Given the description of an element on the screen output the (x, y) to click on. 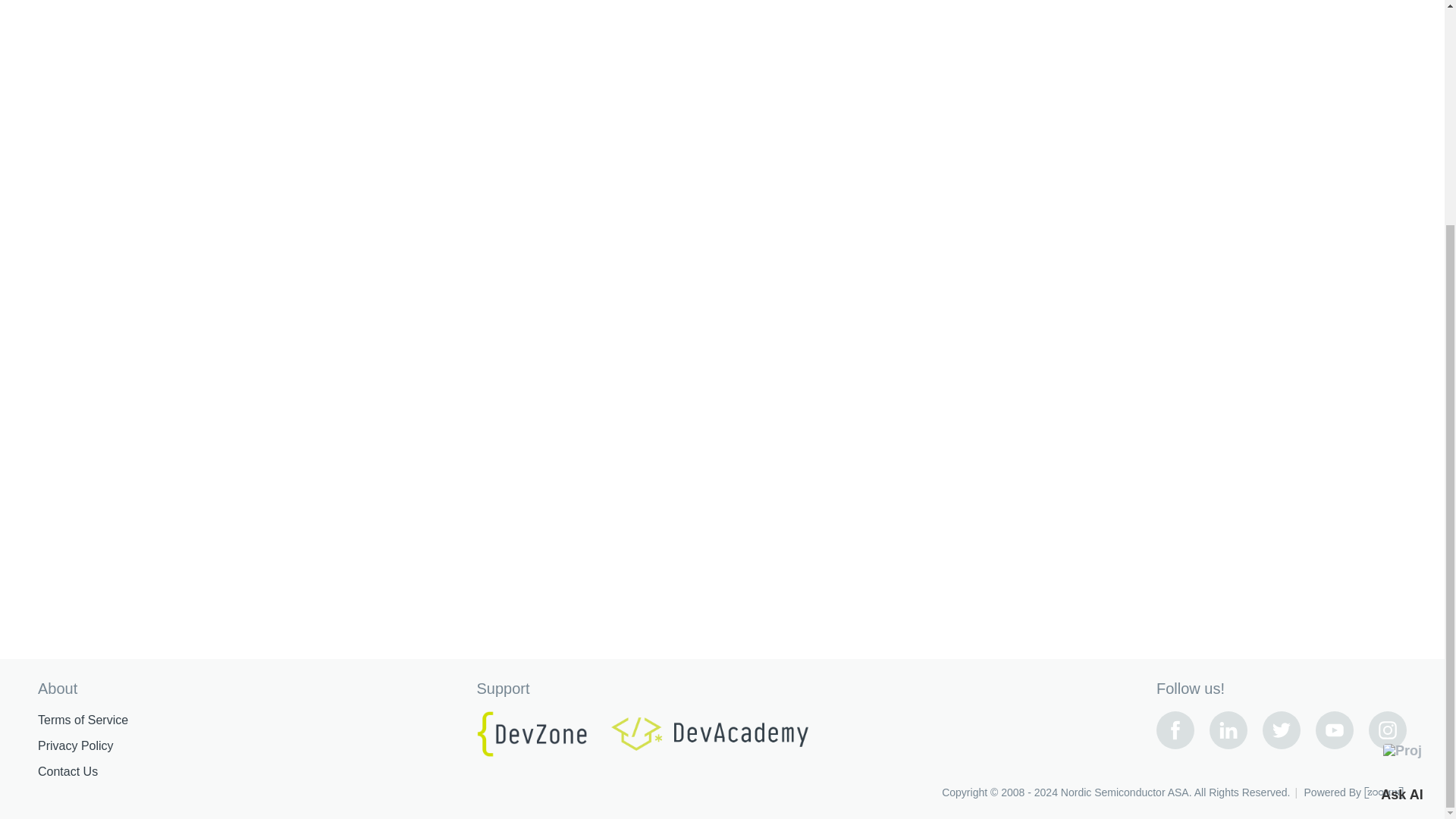
Contact Us (67, 771)
Ask AI (1401, 472)
Privacy Policy (75, 746)
Terms of Service (82, 720)
